Given the description of an element on the screen output the (x, y) to click on. 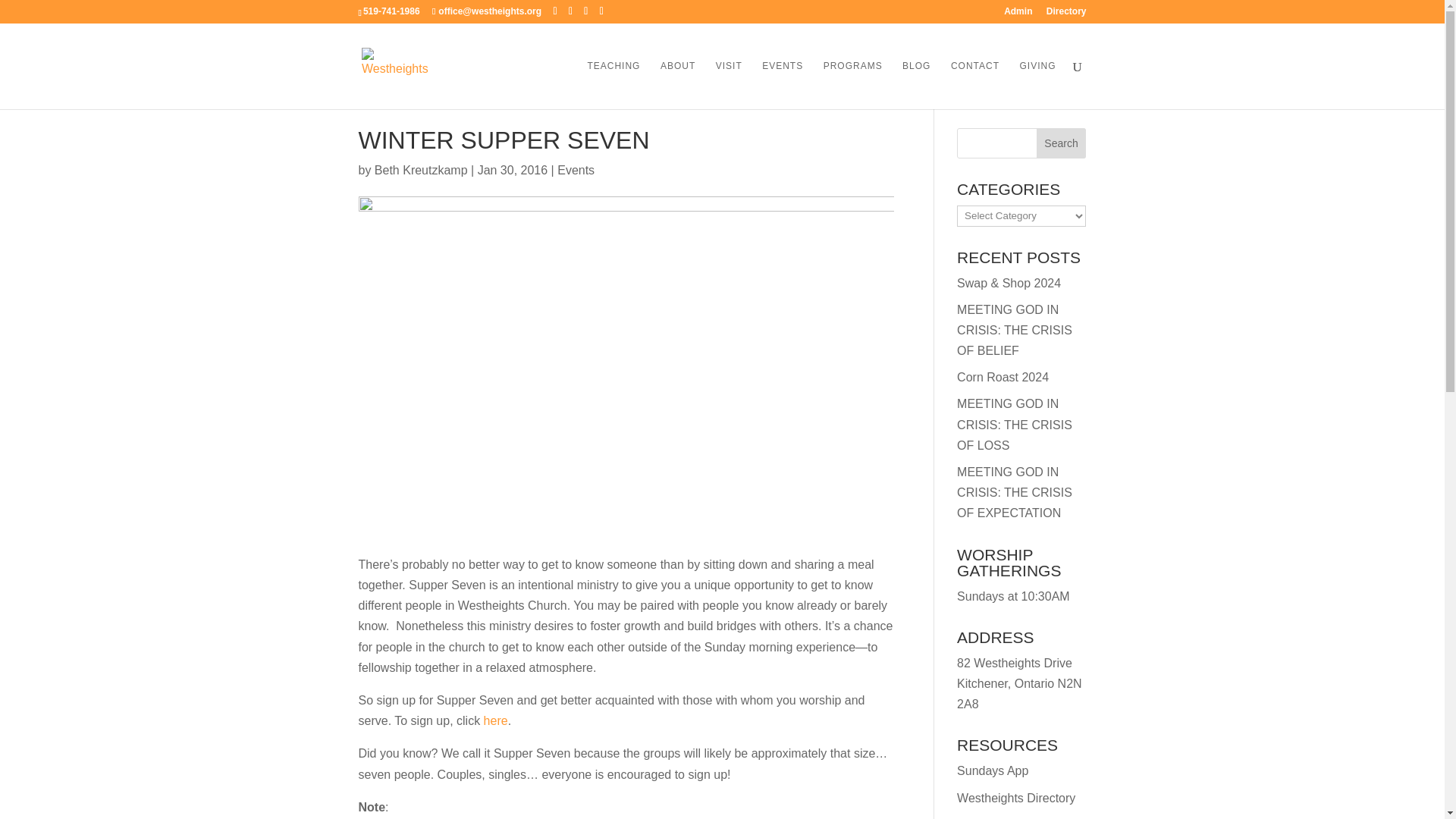
MEETING GOD IN CRISIS: THE CRISIS OF EXPECTATION (1013, 492)
PROGRAMS (853, 84)
Admin (1018, 14)
Directory (1066, 14)
MEETING GOD IN CRISIS: THE CRISIS OF BELIEF (1013, 330)
Search (1061, 142)
Sundays App (991, 770)
TEACHING (613, 84)
Corn Roast 2024 (1002, 377)
Beth Kreutzkamp (420, 169)
